Given the description of an element on the screen output the (x, y) to click on. 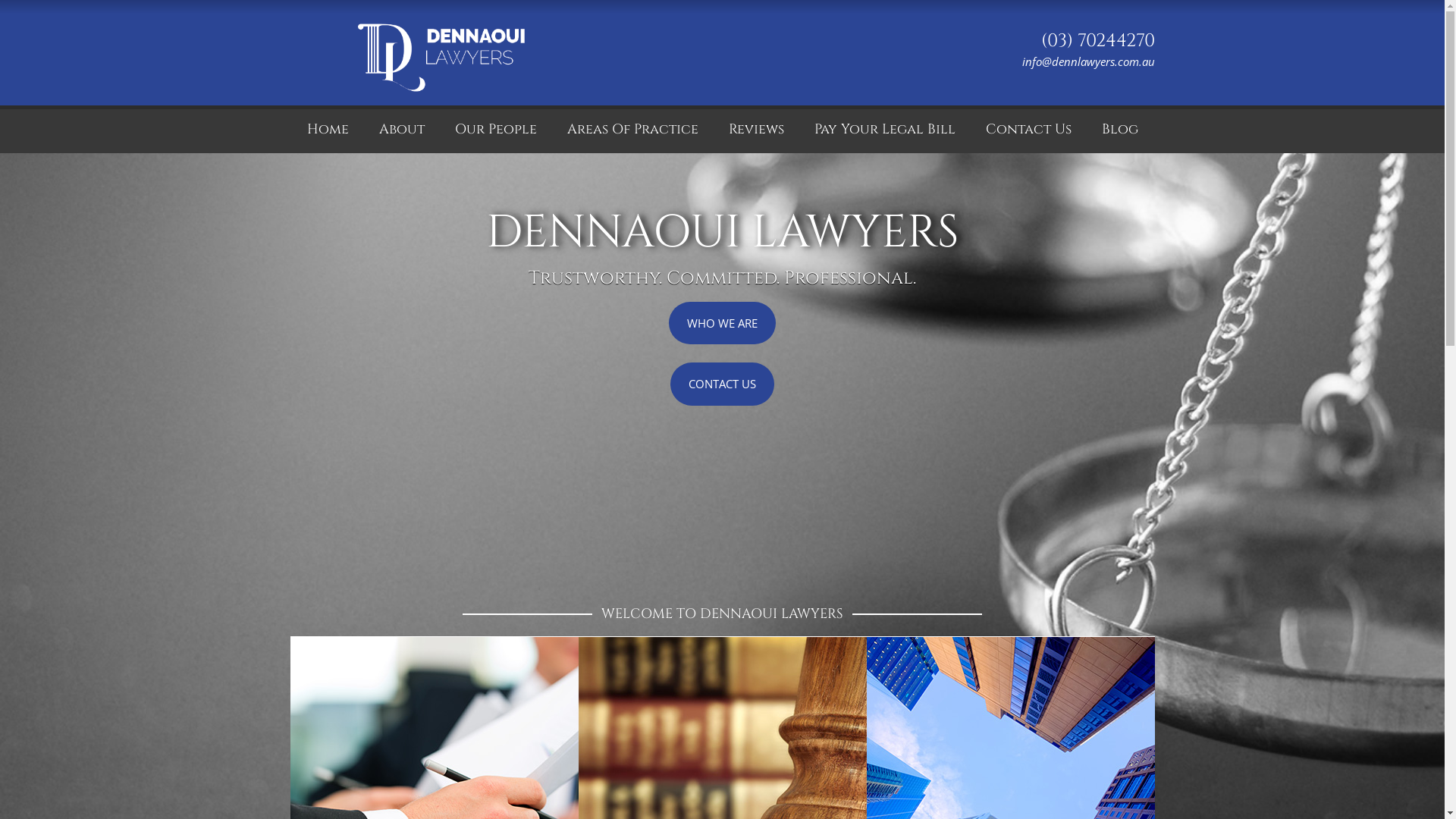
CONTACT US Element type: text (722, 383)
WHO WE ARE Element type: text (721, 322)
Areas of Practice Element type: text (689, 676)
Altona Solicitors Element type: text (401, 676)
Our People Element type: text (495, 129)
Pay Your Legal Bill Element type: text (884, 129)
Home Element type: text (326, 129)
Reviews Element type: text (755, 129)
Areas Of Practice Element type: text (632, 129)
Contact Us Element type: text (1028, 129)
READ MORE Element type: text (996, 791)
Blog Element type: text (1119, 129)
About Element type: text (401, 129)
READ MORE Element type: text (431, 781)
info@dennlawyers.com.au Element type: text (1084, 61)
Dennaoui Lawyers Element type: hover (441, 140)
Contact Us Element type: text (948, 676)
READ MORE Element type: text (710, 772)
